Given the description of an element on the screen output the (x, y) to click on. 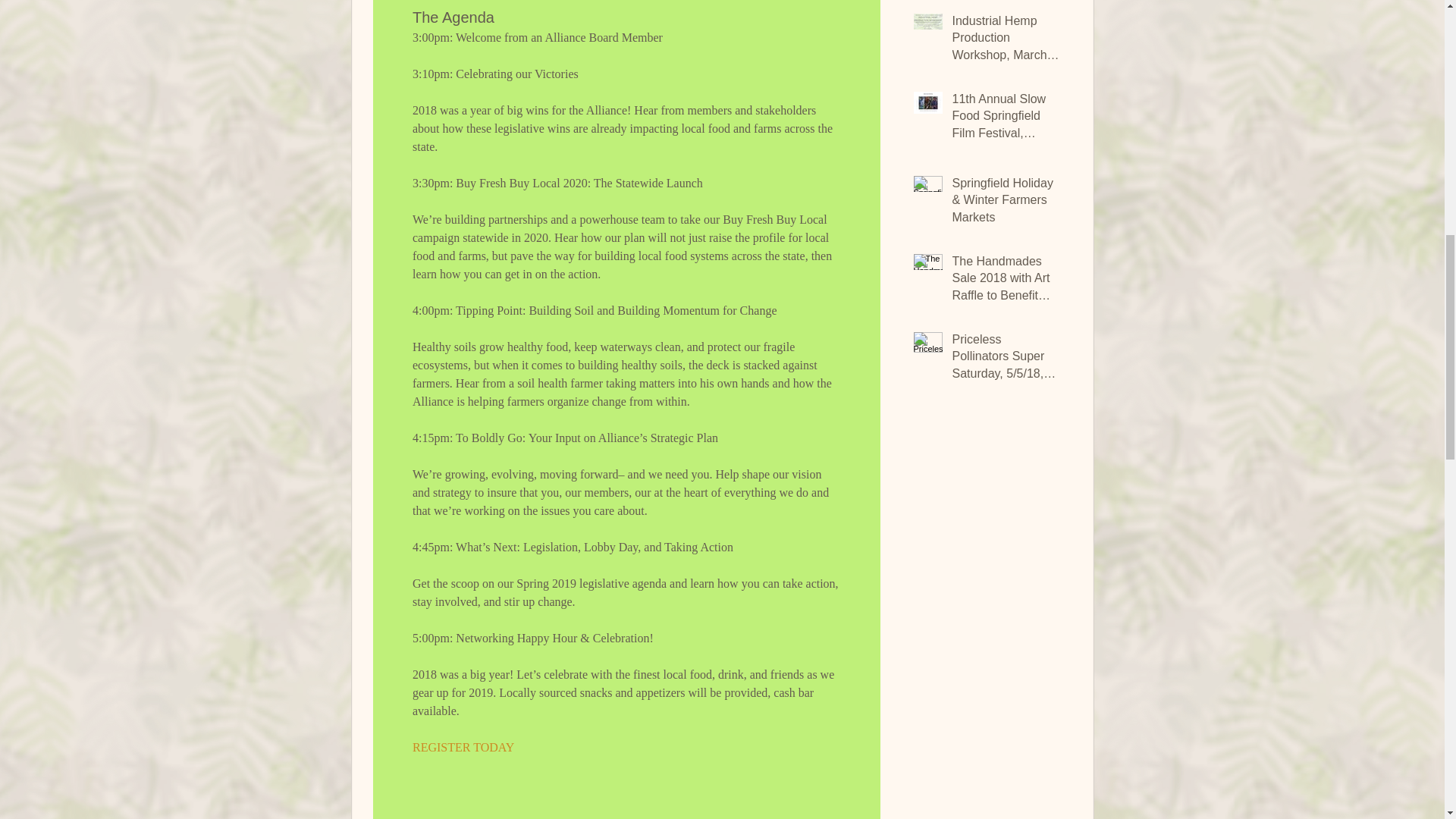
Industrial Hemp Production Workshop, March 12, 2019 (1006, 41)
REGISTER TODAY (462, 747)
